Given the description of an element on the screen output the (x, y) to click on. 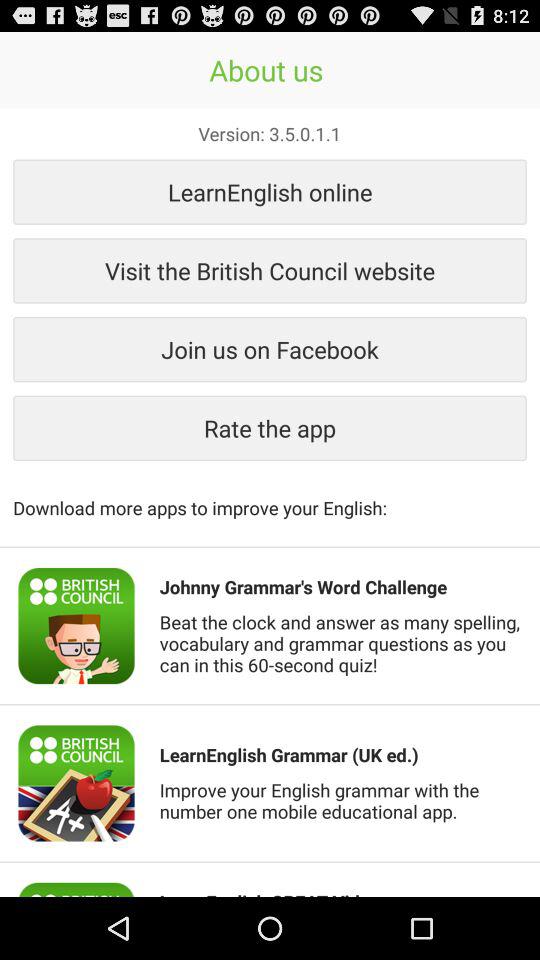
tap the item below the rate the app item (269, 497)
